Given the description of an element on the screen output the (x, y) to click on. 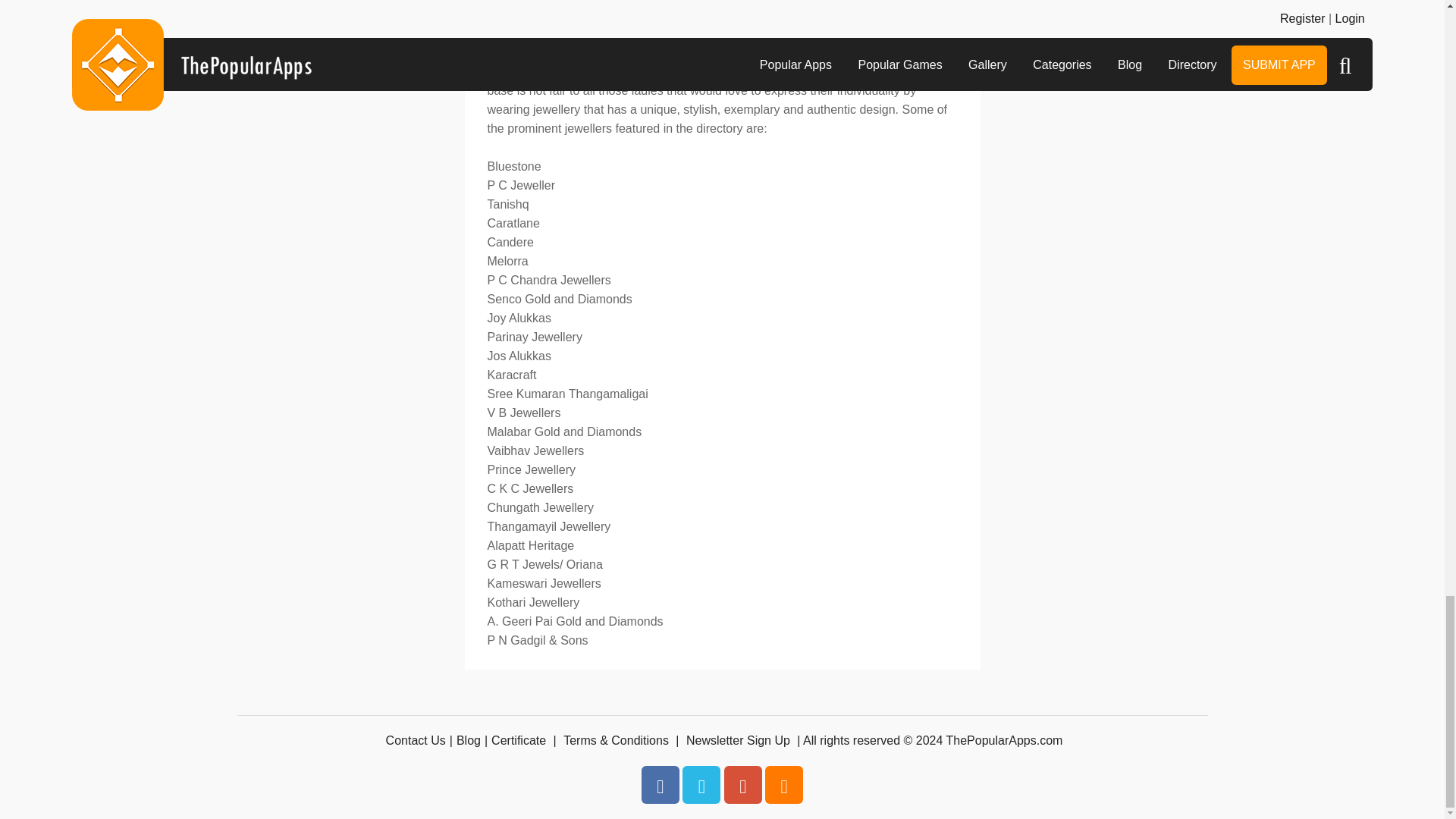
Pinterest (742, 784)
Twitter (701, 784)
Facebook (660, 784)
Rss (784, 784)
